Given the description of an element on the screen output the (x, y) to click on. 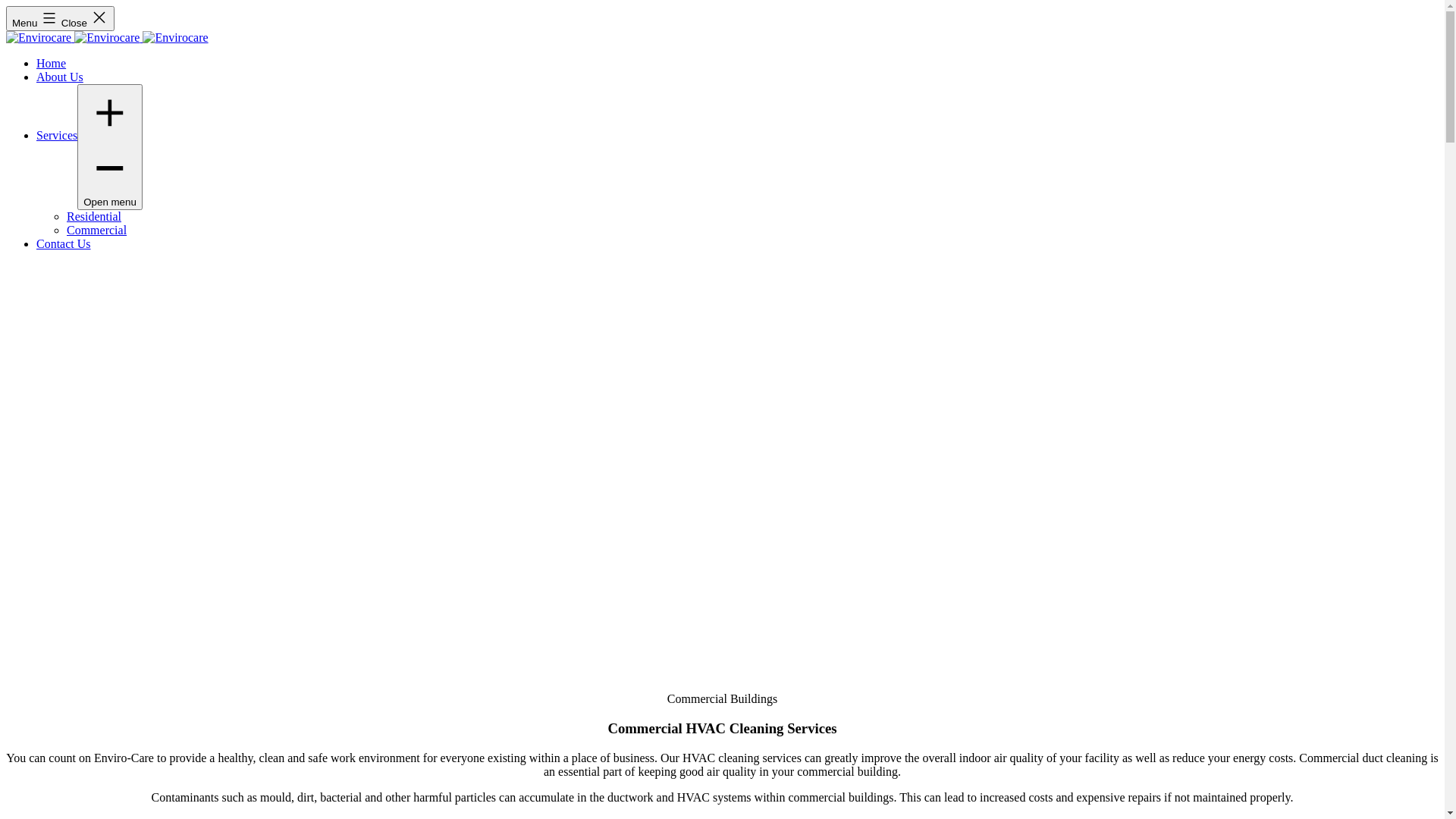
About Us Element type: text (59, 76)
Contact Us Element type: text (63, 243)
Home Element type: text (50, 62)
Envirocare Element type: hover (40, 37)
Menu Close Element type: text (60, 18)
Open menu Element type: text (109, 147)
Envirocare Element type: hover (108, 37)
Services Element type: text (56, 134)
Envirocare Element type: hover (174, 37)
Commercial Element type: text (96, 229)
Residential Element type: text (93, 216)
